Given the description of an element on the screen output the (x, y) to click on. 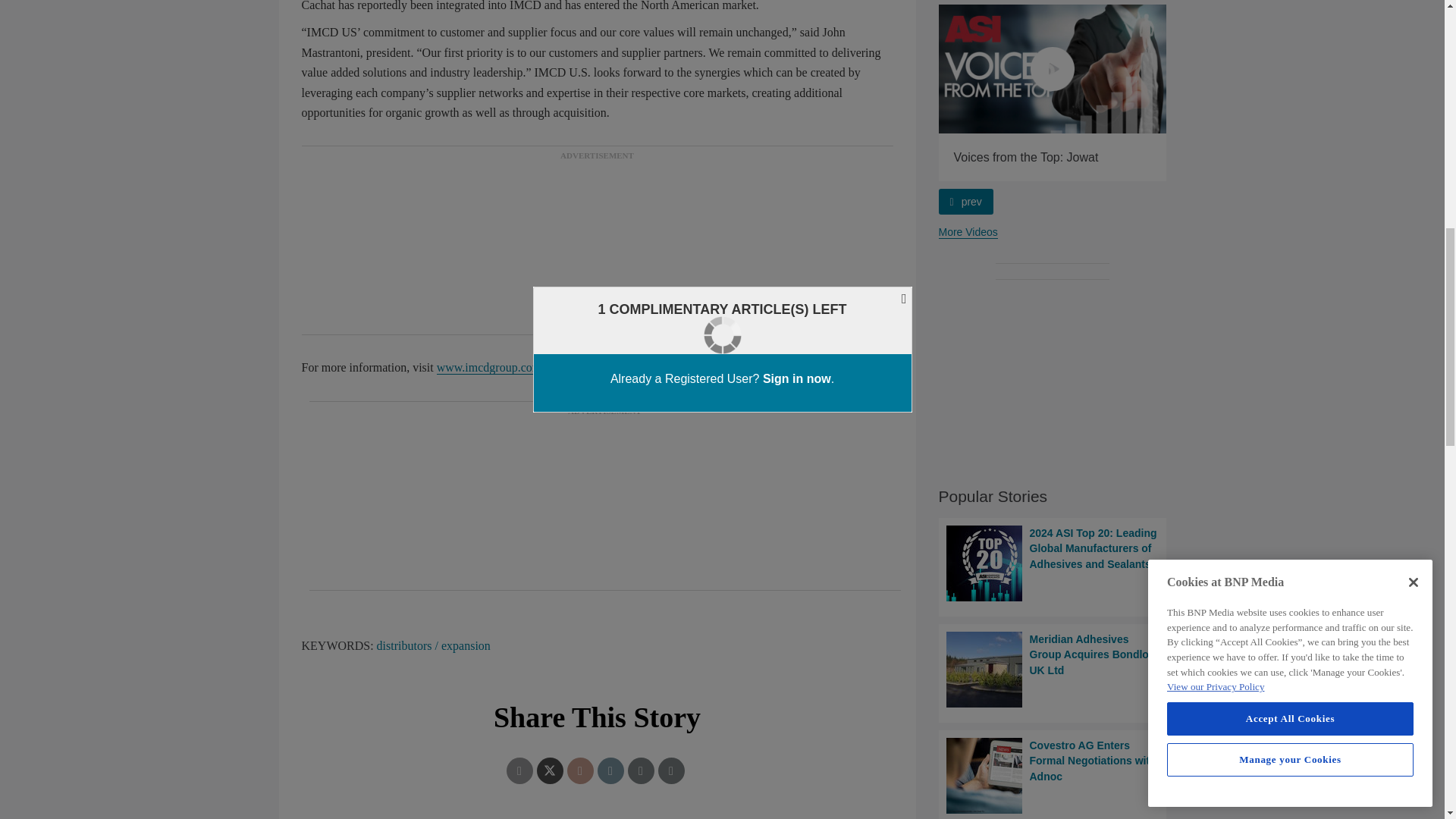
Meridian Adhesives Group Acquires Bondloc UK Ltd (1052, 669)
Voices from the Top: Arkema Group (825, 68)
Covestro AG Enters Formal Negotiations with Adnoc  (1052, 775)
Voices from the Top: Jowat (1052, 68)
